Given the description of an element on the screen output the (x, y) to click on. 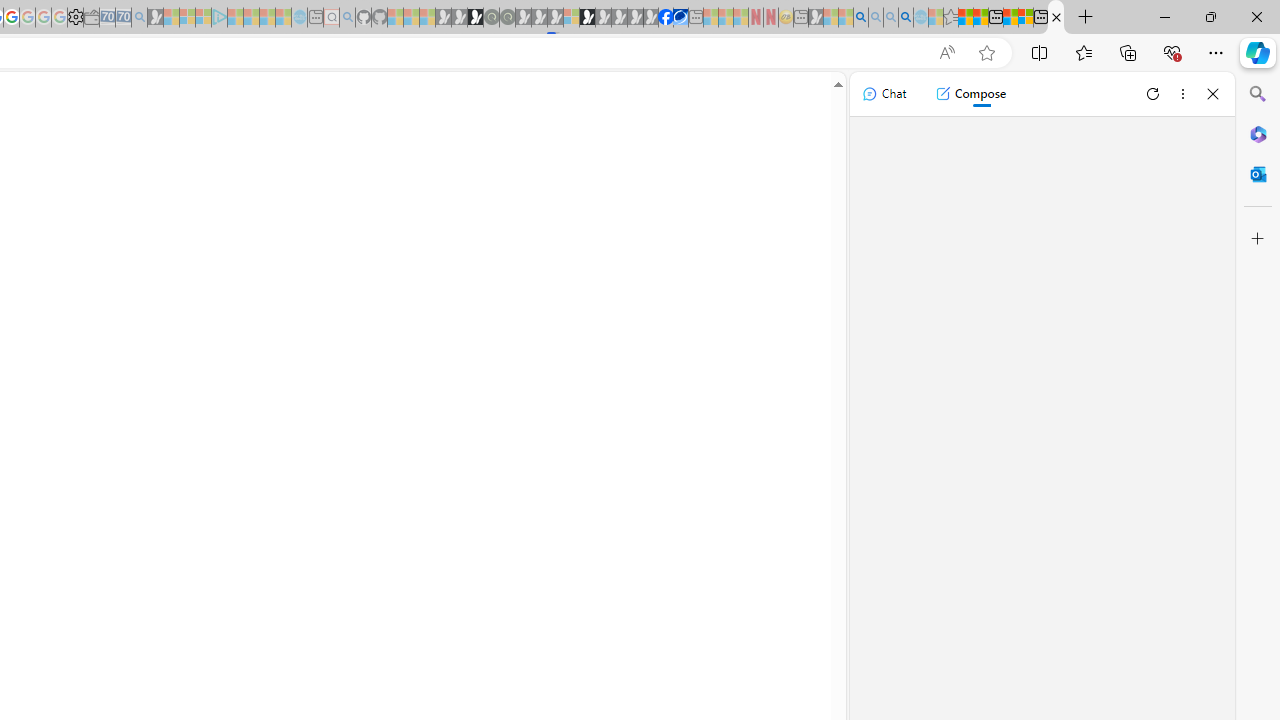
Compose (970, 93)
Future Focus Report 2024 - Sleeping (507, 17)
Nordace | Facebook (666, 17)
